Given the description of an element on the screen output the (x, y) to click on. 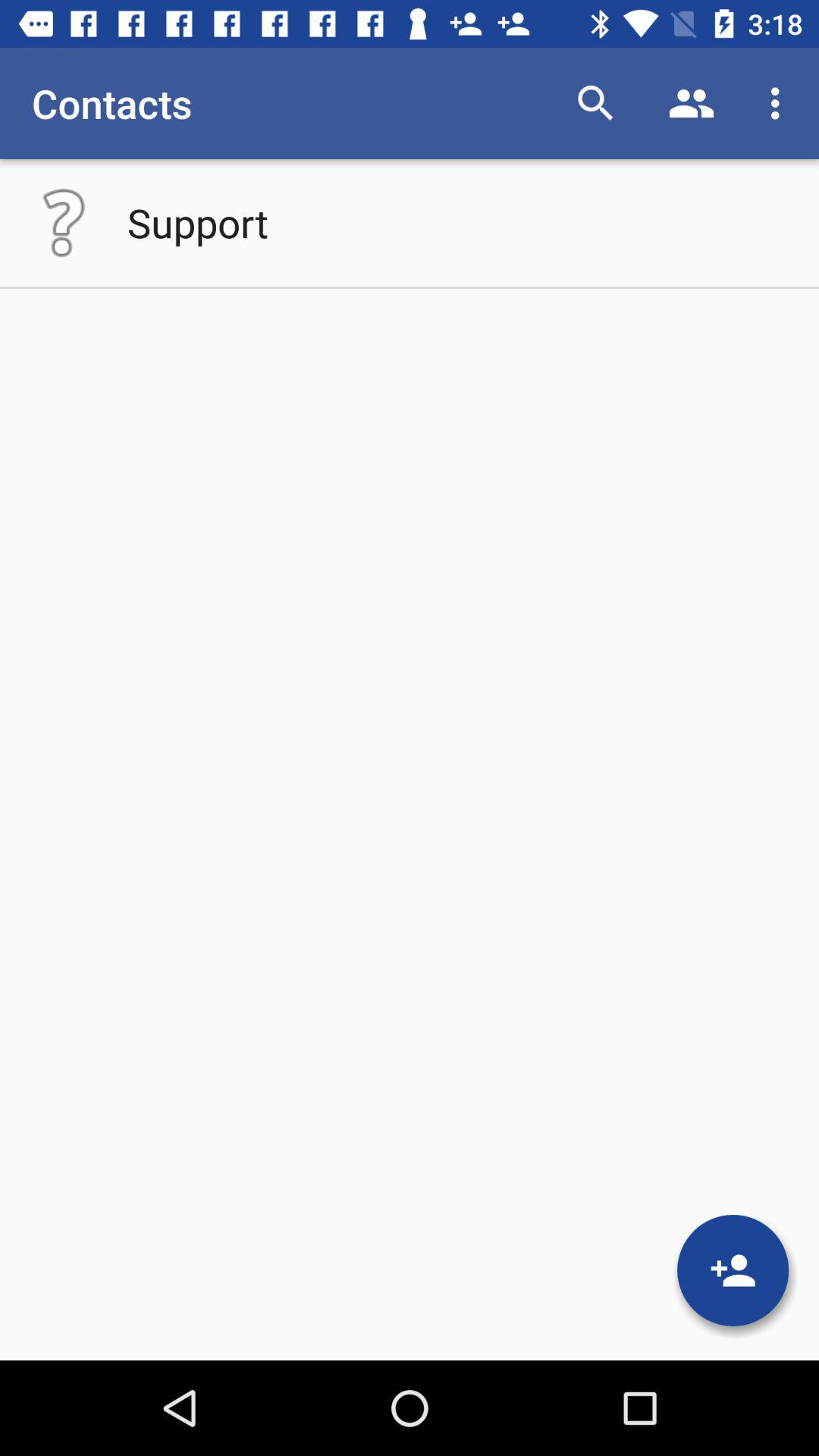
add contact (733, 1270)
